Given the description of an element on the screen output the (x, y) to click on. 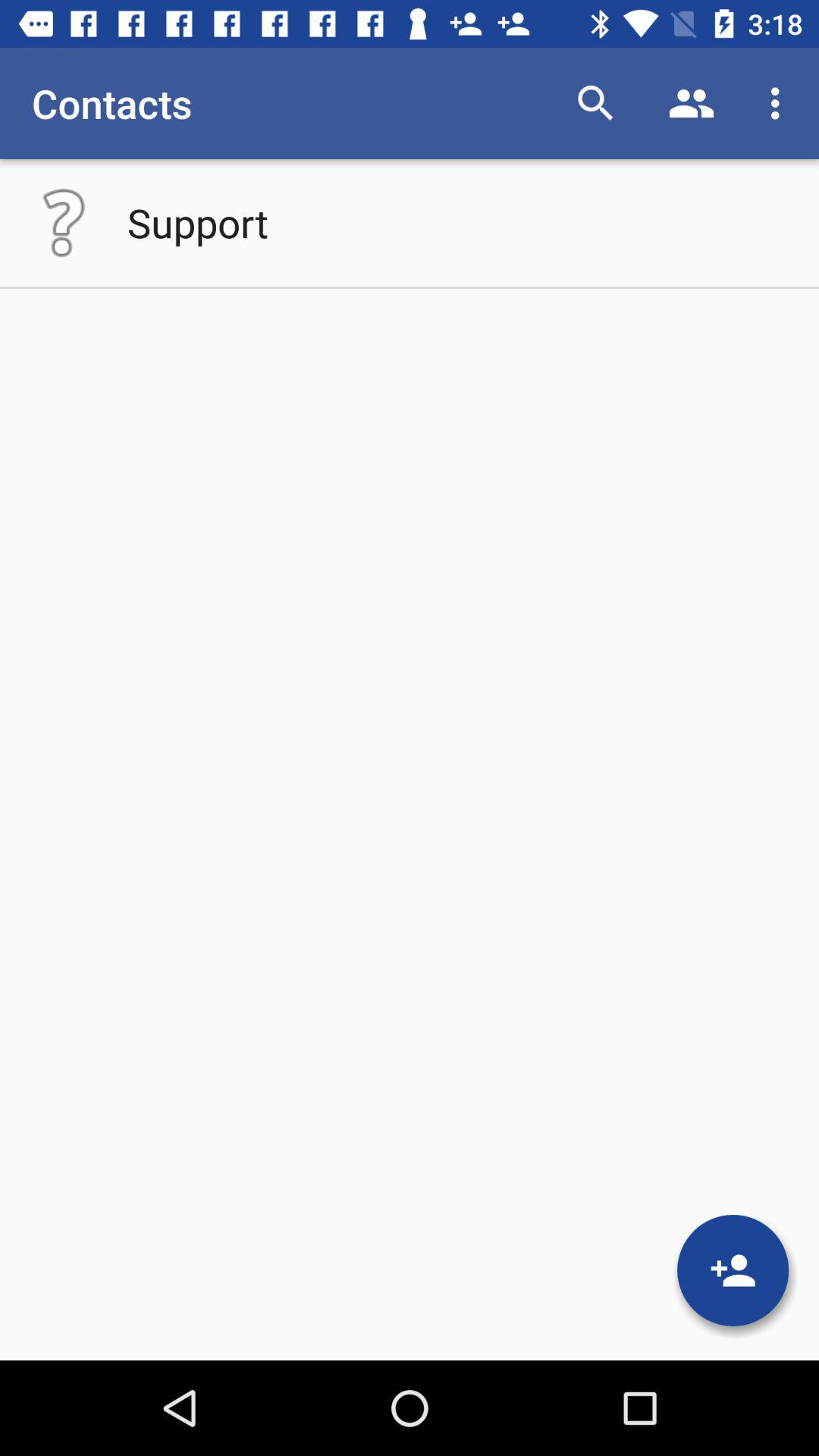
add contact (733, 1270)
